Given the description of an element on the screen output the (x, y) to click on. 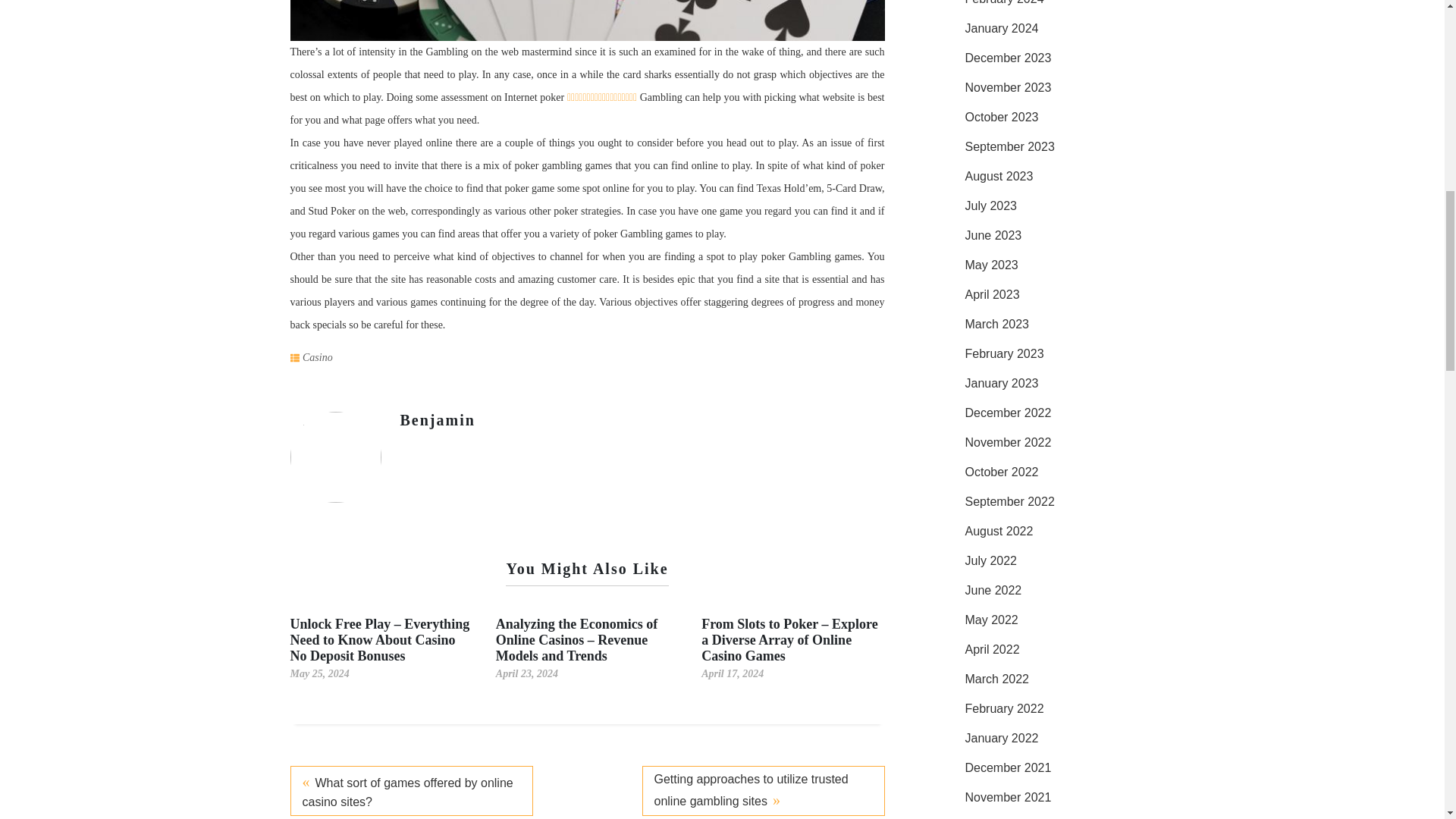
Getting approaches to utilize trusted online gambling sites (762, 790)
April 23, 2024 (526, 673)
Posts by Benjamin (438, 419)
January 2024 (1000, 28)
What sort of games offered by online casino sites? (410, 790)
Casino (317, 357)
May 25, 2024 (319, 673)
April 17, 2024 (731, 673)
Benjamin (438, 419)
February 2024 (1003, 2)
